Given the description of an element on the screen output the (x, y) to click on. 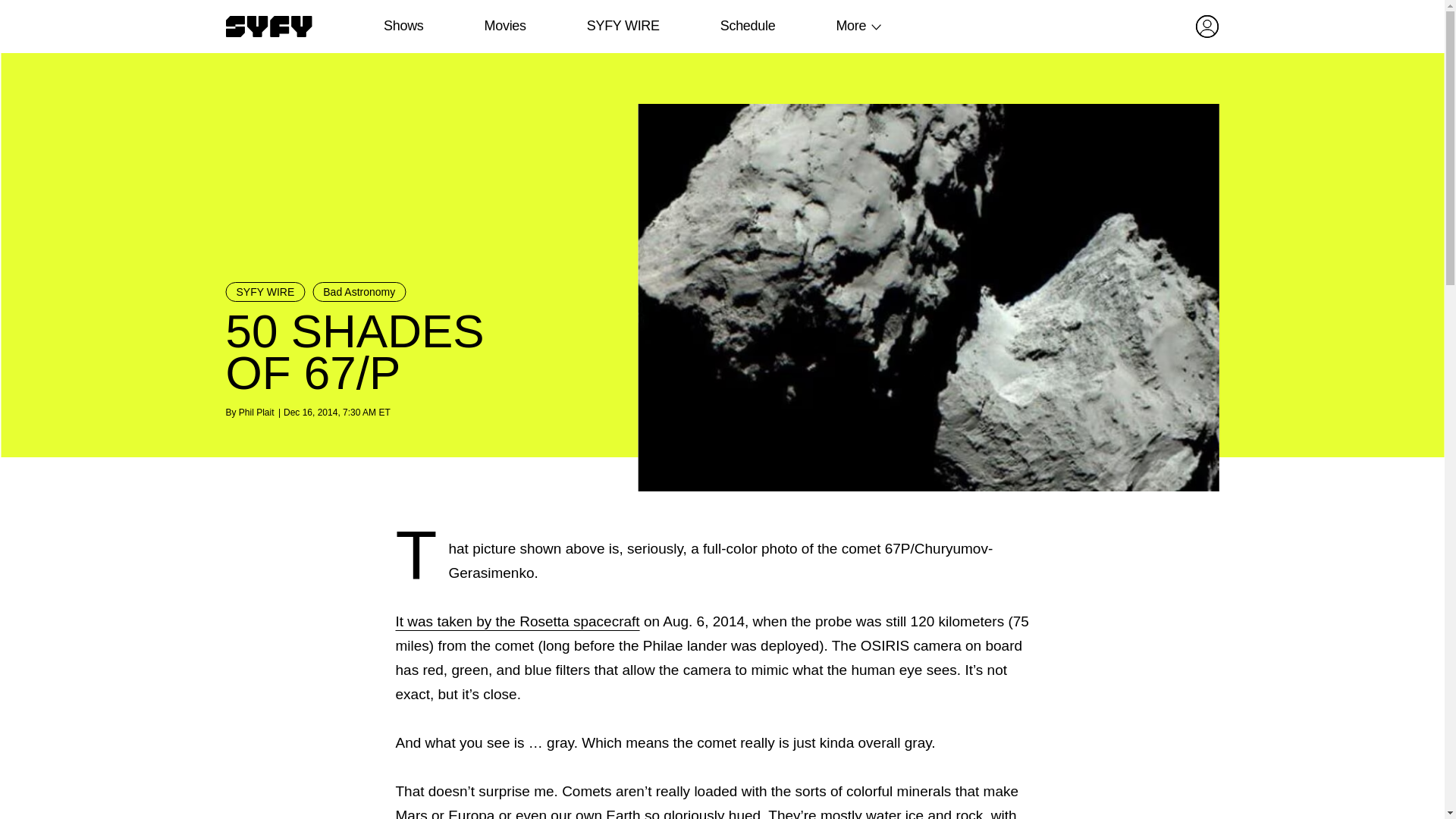
SYFY WIRE (265, 291)
Movies (504, 26)
More (850, 26)
SYFY WIRE (622, 26)
Shows (403, 26)
It was taken by the Rosetta spacecraft (518, 621)
Phil Plait (256, 412)
Schedule (746, 26)
Bad Astronomy (359, 291)
